Given the description of an element on the screen output the (x, y) to click on. 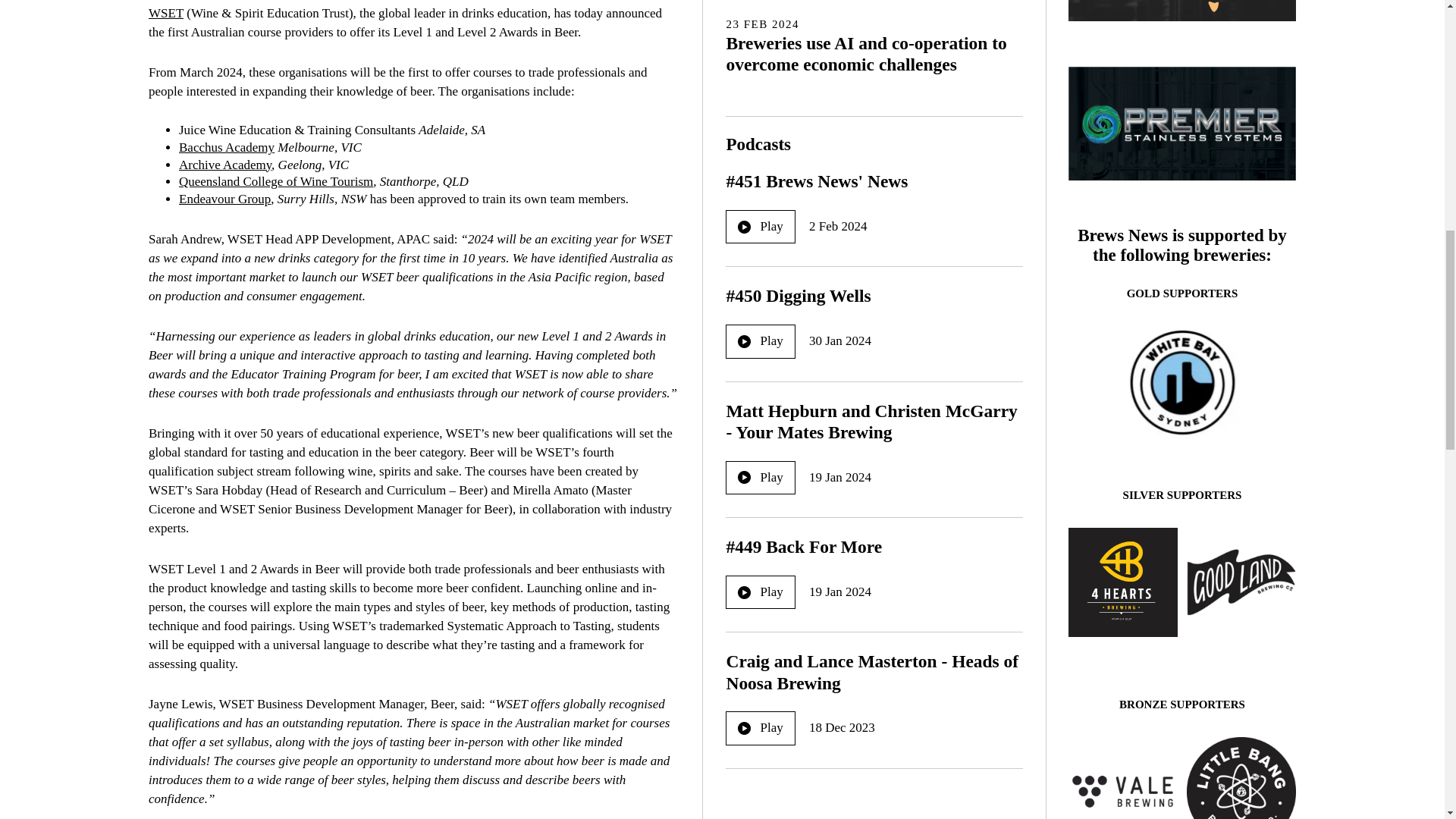
WSET (165, 12)
Queensland College of Wine Tourism (275, 181)
Endeavour Group (224, 198)
Archive Academy (224, 164)
Bacchus Academy (227, 147)
